Given the description of an element on the screen output the (x, y) to click on. 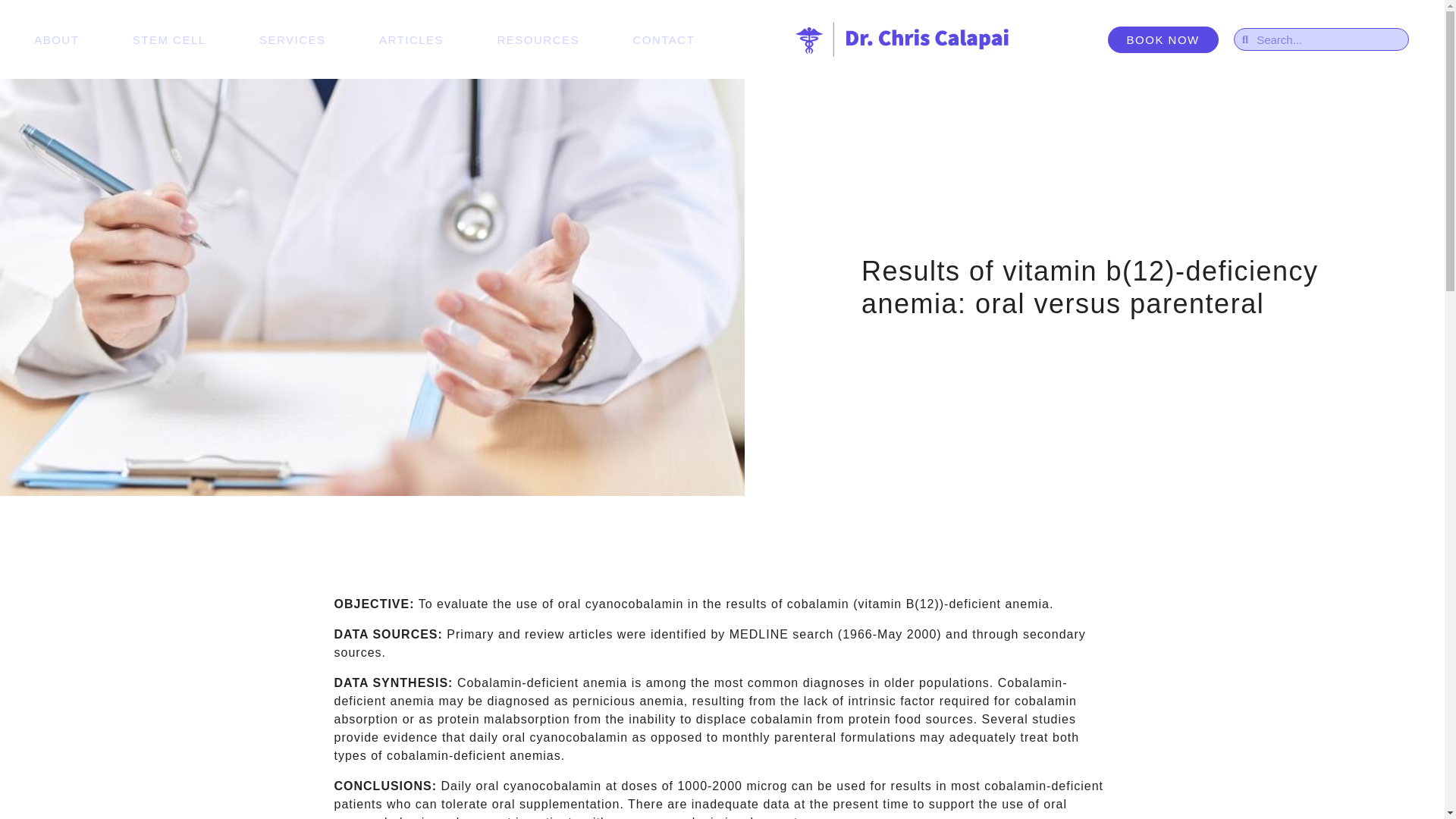
STEM CELL (169, 39)
ABOUT (56, 39)
ARTICLES (411, 39)
SERVICES (292, 39)
CONTACT (662, 39)
RESOURCES (537, 39)
